Given the description of an element on the screen output the (x, y) to click on. 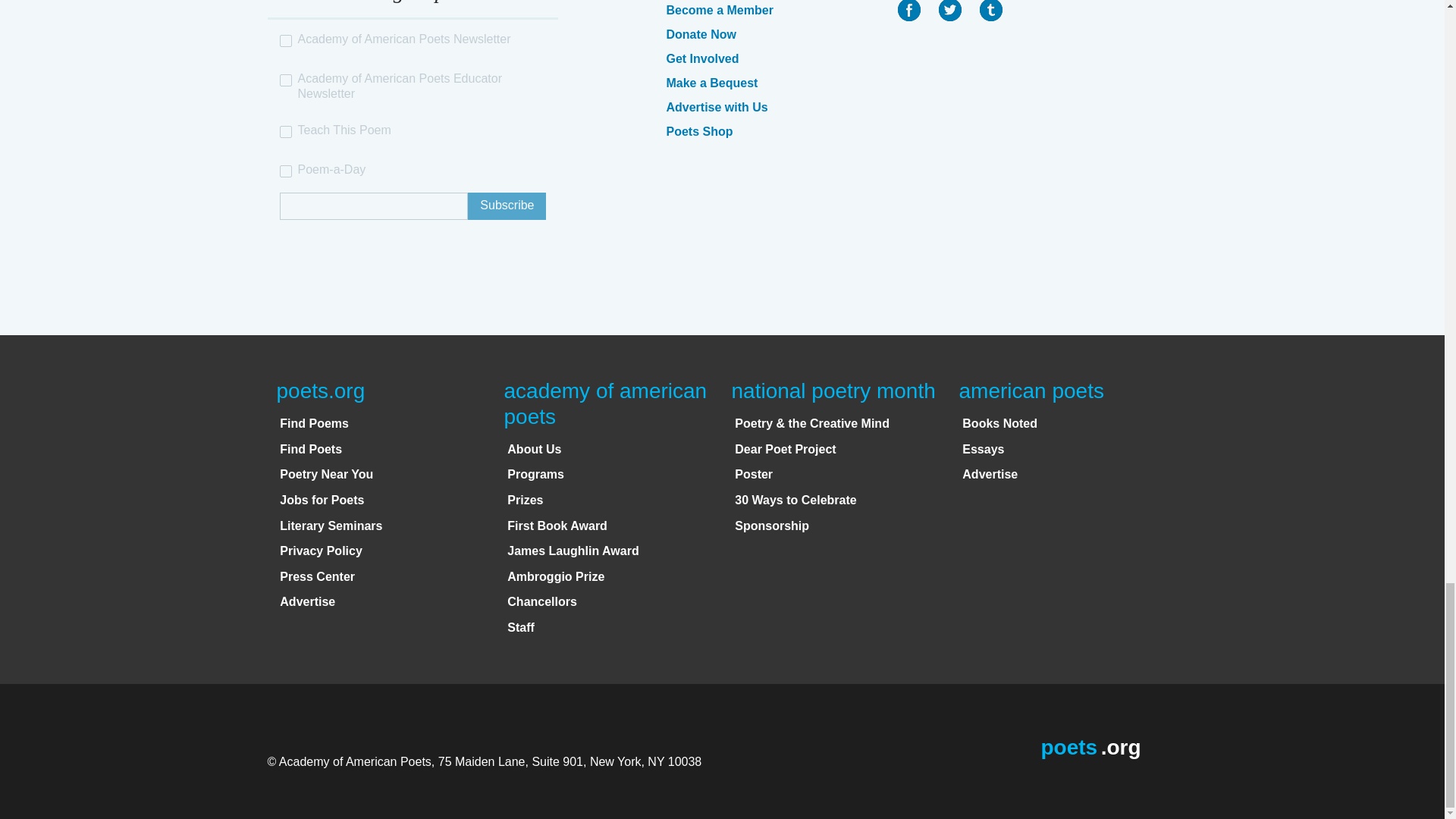
Privacy Policy (320, 550)
Literary Seminars (330, 525)
Press Center (317, 576)
Poetry Near You (325, 473)
Subscribe (506, 206)
Jobs for Poets (321, 499)
